Given the description of an element on the screen output the (x, y) to click on. 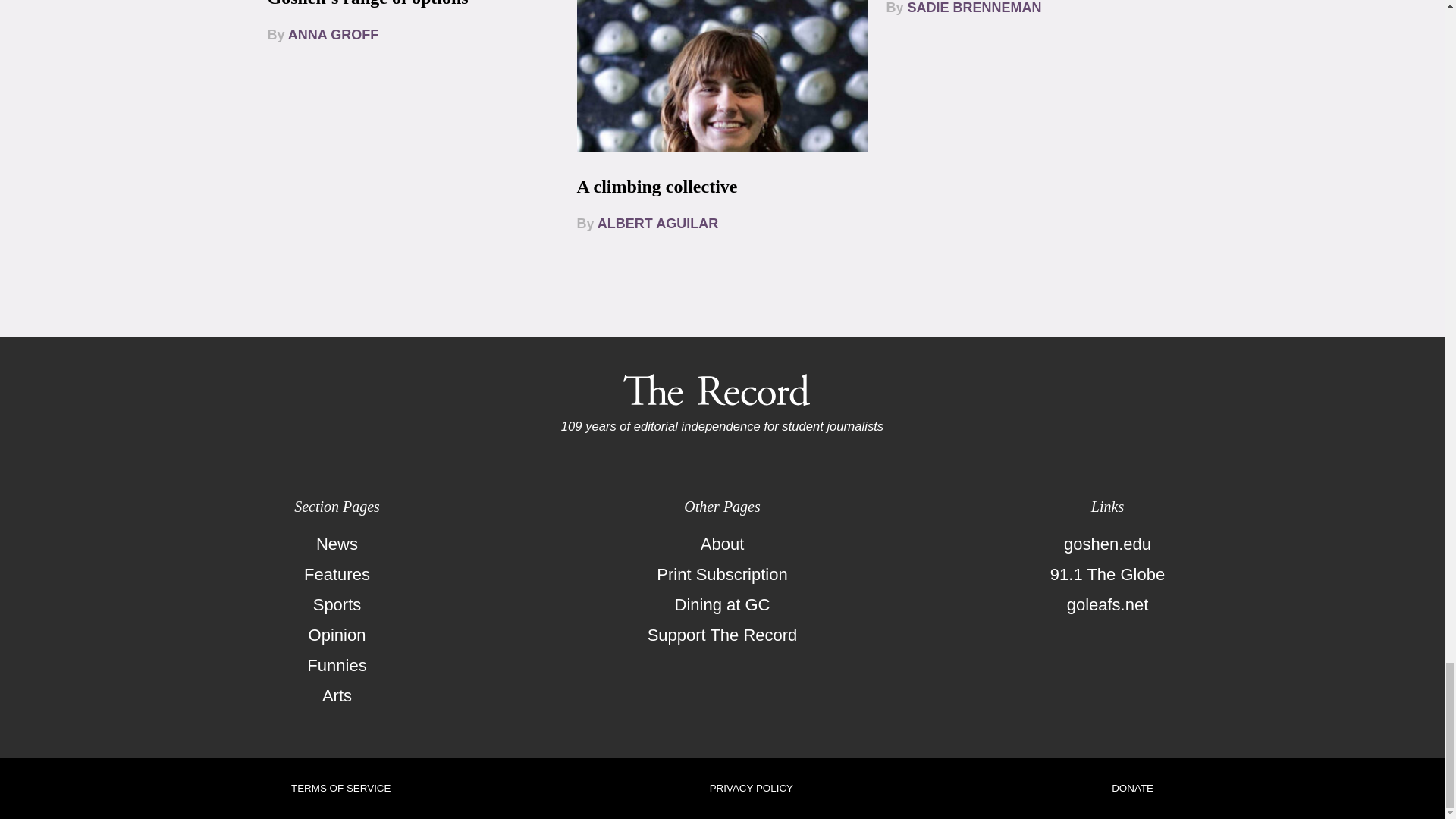
SADIE BRENNEMAN (974, 7)
Print Subscription (722, 574)
Features (336, 574)
Opinion (336, 634)
ALBERT AGUILAR (656, 223)
Funnies (336, 665)
News (336, 544)
ANNA GROFF (333, 34)
Arts (336, 695)
A climbing collective (656, 186)
About (722, 544)
Sports (336, 604)
